Given the description of an element on the screen output the (x, y) to click on. 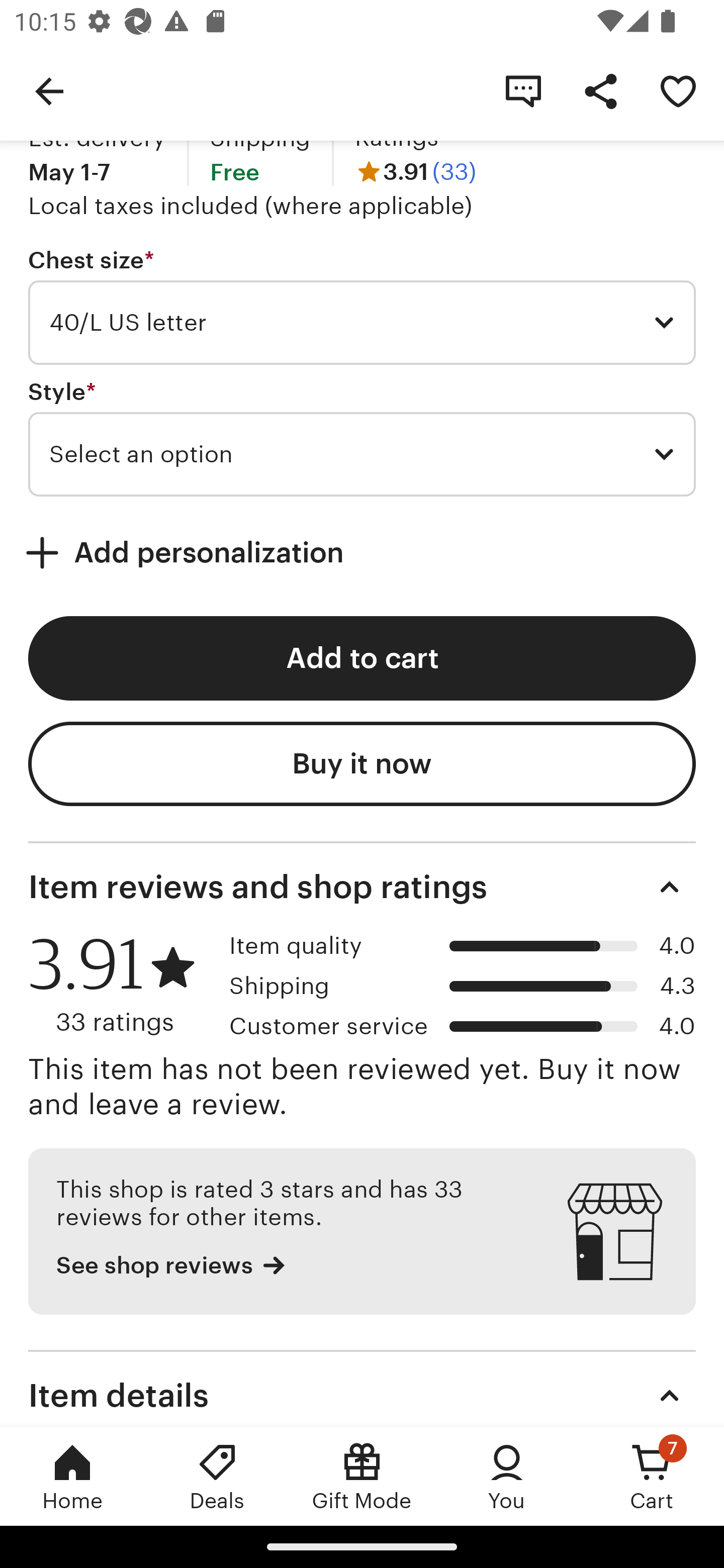
Navigate up (49, 90)
Contact shop (523, 90)
Share (600, 90)
3.91 (33) (415, 172)
Chest size * Required 40/L US letter (361, 306)
40/L US letter (361, 322)
Style * Required Select an option (361, 438)
Select an option (361, 454)
Add personalization Add personalization Required (362, 552)
Add to cart (361, 658)
Buy it now (361, 763)
Item reviews and shop ratings (362, 887)
3.91 33 ratings (121, 984)
Item details (362, 1388)
Deals (216, 1475)
Gift Mode (361, 1475)
You (506, 1475)
Cart, 7 new notifications Cart (651, 1475)
